Given the description of an element on the screen output the (x, y) to click on. 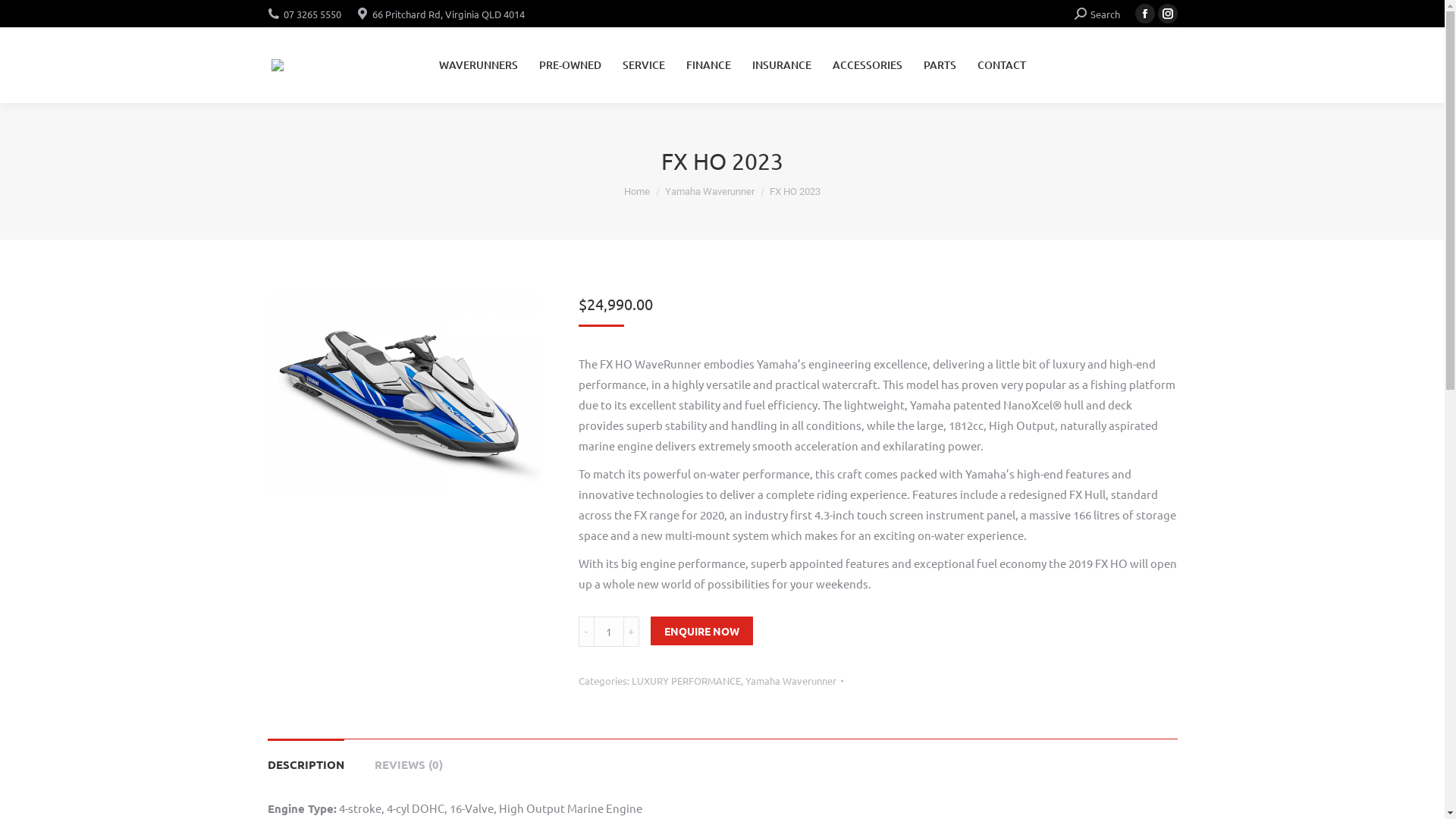
Search Element type: text (1096, 13)
ACCESSORIES Element type: text (867, 64)
Yamaha Waverunner Element type: text (789, 680)
DESCRIPTION Element type: text (304, 763)
PRE-OWNED Element type: text (569, 64)
SERVICE Element type: text (642, 64)
LUXURY PERFORMANCE Element type: text (685, 680)
07 3265 5550 Element type: text (312, 13)
CONTACT Element type: text (1000, 64)
Instagram page opens in new window Element type: text (1166, 13)
ENQUIRE NOW Element type: text (701, 630)
WAVERUNNERS Element type: text (477, 64)
Facebook page opens in new window Element type: text (1144, 13)
Yamaha Waverunner Element type: text (709, 191)
INSURANCE Element type: text (781, 64)
FX HO Element type: hover (402, 394)
Qty Element type: hover (608, 631)
FINANCE Element type: text (707, 64)
Go! Element type: text (24, 15)
PARTS Element type: text (939, 64)
REVIEWS (0) Element type: text (408, 763)
Home Element type: text (636, 191)
